Given the description of an element on the screen output the (x, y) to click on. 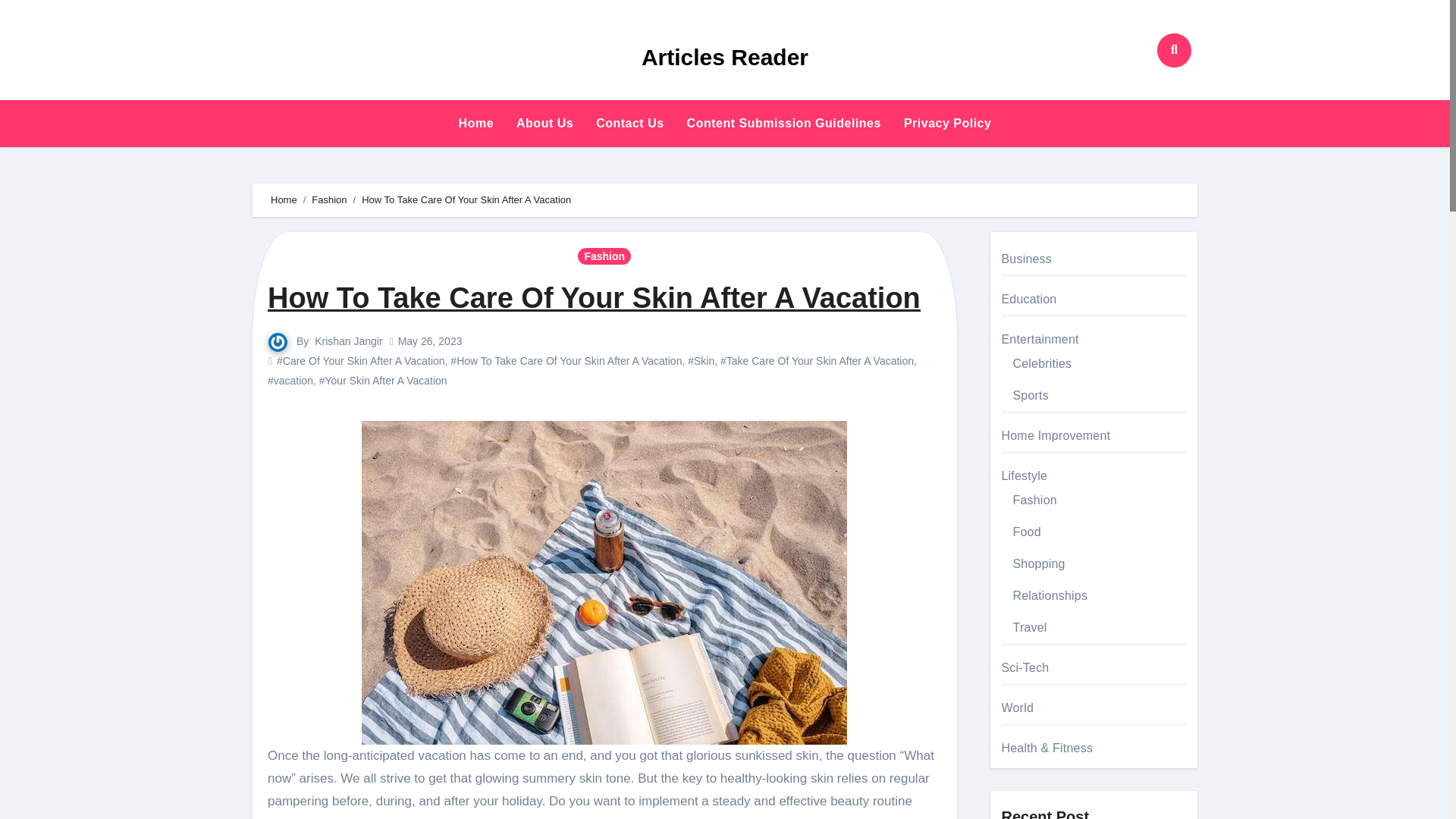
May 26, 2023 (430, 340)
About Us (545, 123)
Content Submission Guidelines (783, 123)
Fashion (328, 199)
How To Take Care Of Your Skin After A Vacation (593, 297)
Fashion (604, 256)
Articles Reader (725, 57)
Home (283, 199)
Home (475, 123)
Home (475, 123)
Krishan Jangir (348, 340)
Contact Us (630, 123)
Privacy Policy (947, 123)
Permalink to: How To Take Care Of Your Skin After A Vacation (593, 297)
